Given the description of an element on the screen output the (x, y) to click on. 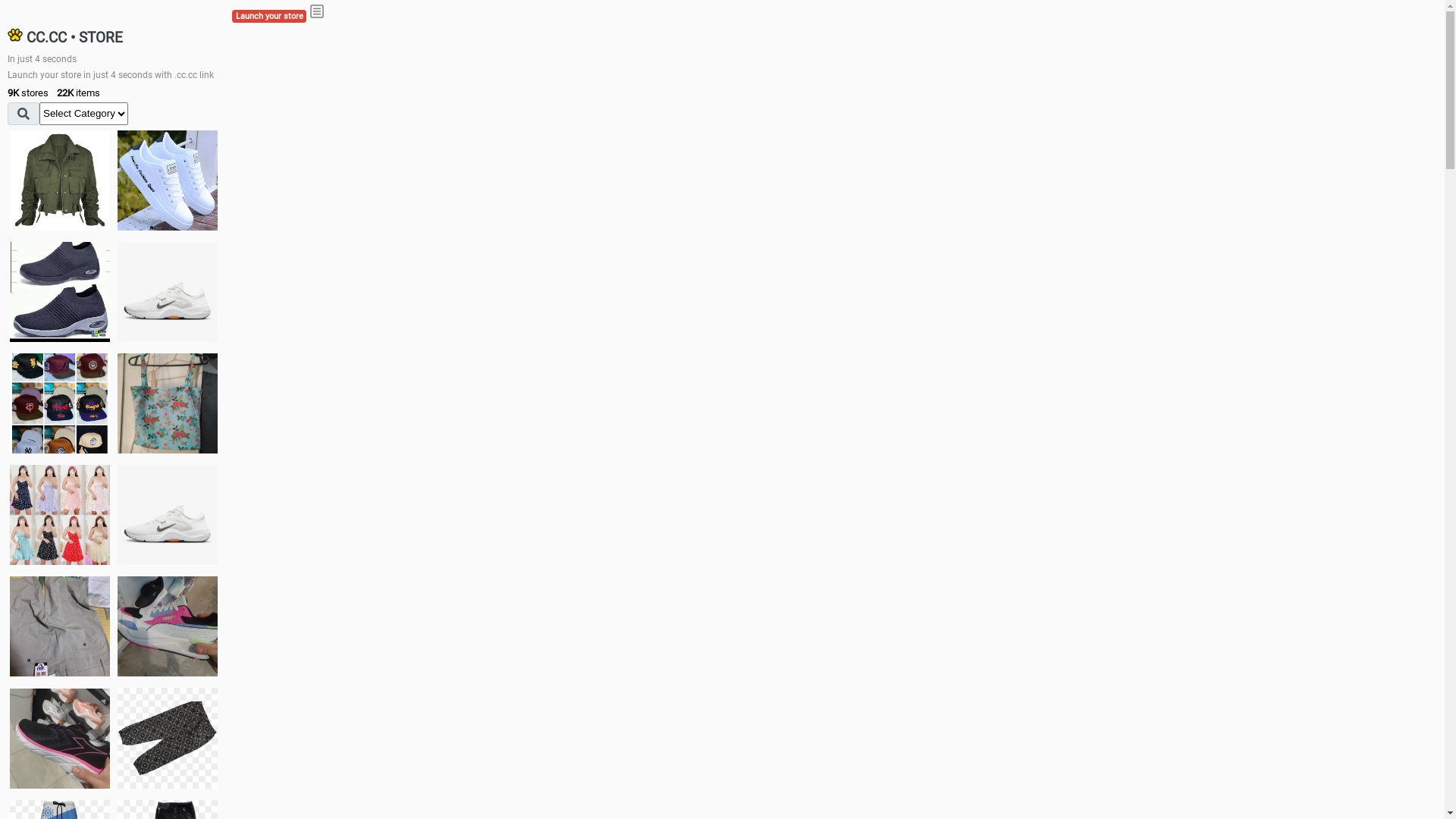
shoes for boys Element type: hover (59, 291)
Shoes Element type: hover (167, 514)
white shoes Element type: hover (167, 180)
Ukay cloth Element type: hover (167, 403)
Things we need Element type: hover (59, 403)
Shoes for boys Element type: hover (167, 291)
Launch your store Element type: text (269, 15)
Zapatillas Element type: hover (59, 738)
Zapatillas pumas Element type: hover (167, 626)
Short pant Element type: hover (167, 737)
Dress/square nect top Element type: hover (59, 514)
jacket Element type: hover (59, 180)
